Given the description of an element on the screen output the (x, y) to click on. 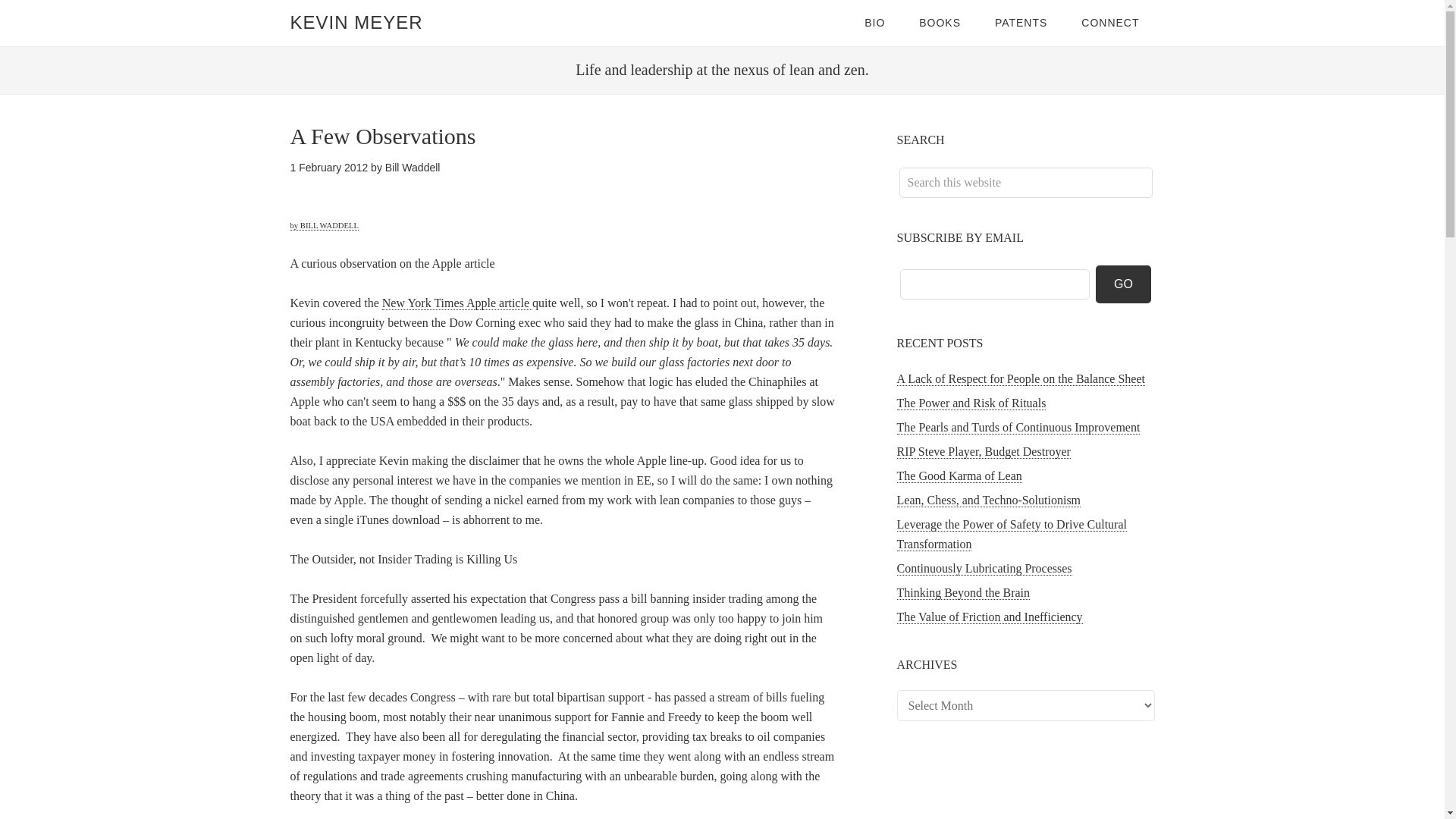
The Power and Risk of Rituals (970, 403)
BOOKS (939, 22)
Bill Waddell (413, 167)
Lean, Chess, and Techno-Solutionism (988, 499)
BIO (873, 22)
The Pearls and Turds of Continuous Improvement (1018, 427)
The Value of Friction and Inefficiency (988, 617)
PATENTS (1020, 22)
Continuously Lubricating Processes (983, 568)
A Lack of Respect for People on the Balance Sheet (1020, 378)
